Given the description of an element on the screen output the (x, y) to click on. 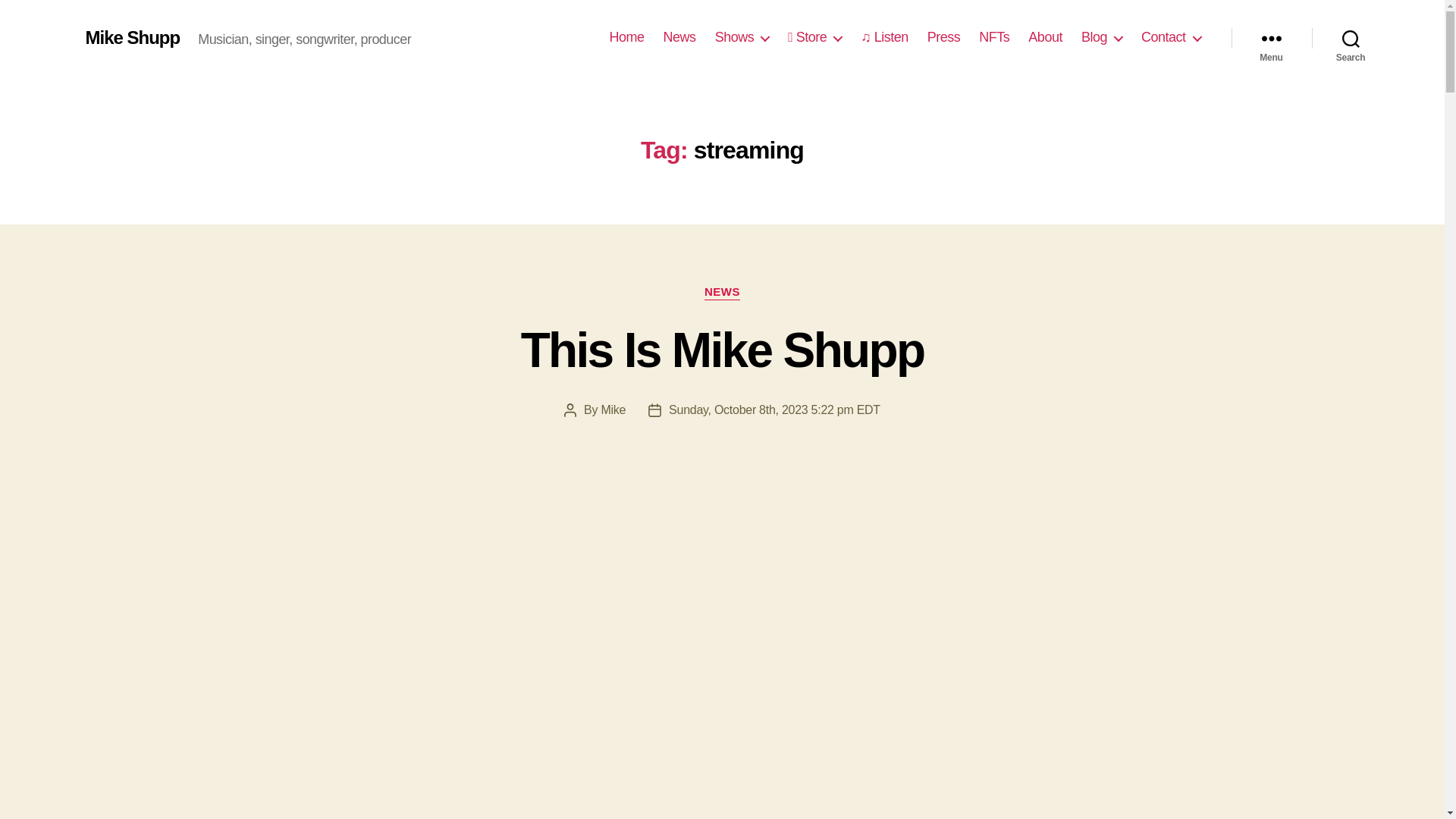
Shows (742, 37)
Home (627, 37)
NFTs (993, 37)
Contact (1171, 37)
Menu (1271, 37)
Press (943, 37)
Shows (742, 37)
Blog (1101, 37)
News (679, 37)
Home (627, 37)
